Given the description of an element on the screen output the (x, y) to click on. 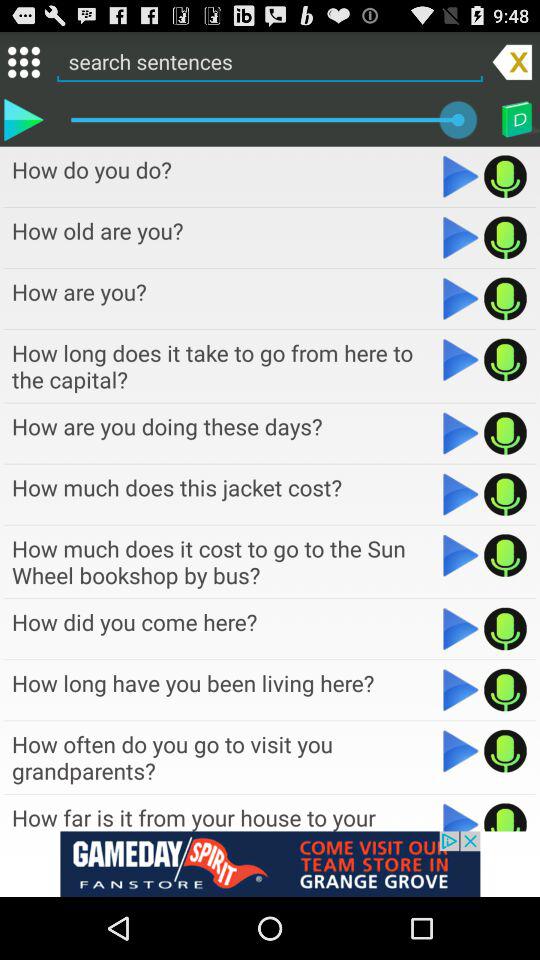
it is voice message (505, 689)
